Given the description of an element on the screen output the (x, y) to click on. 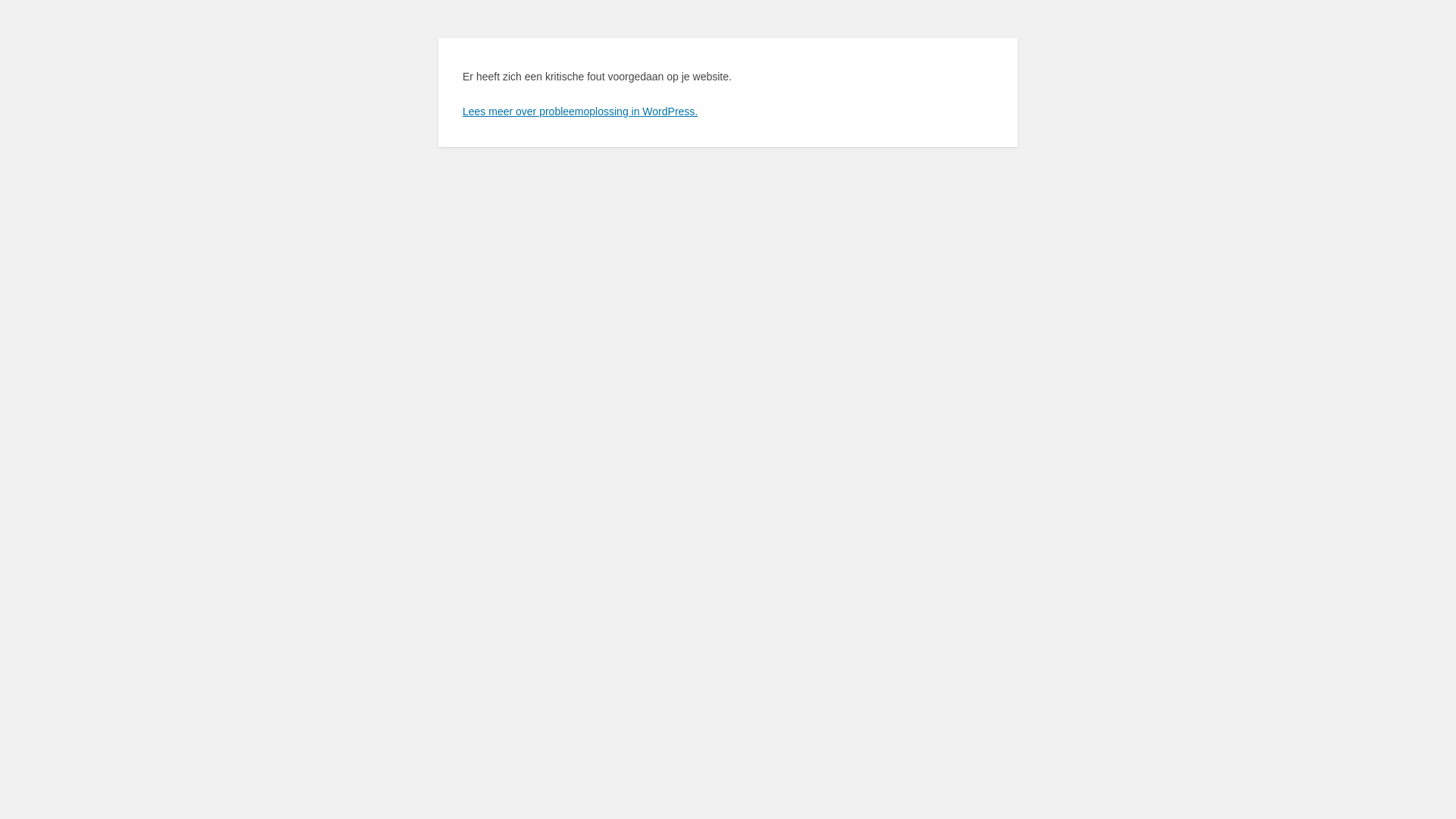
Lees meer over probleemoplossing in WordPress. Element type: text (579, 111)
